Given the description of an element on the screen output the (x, y) to click on. 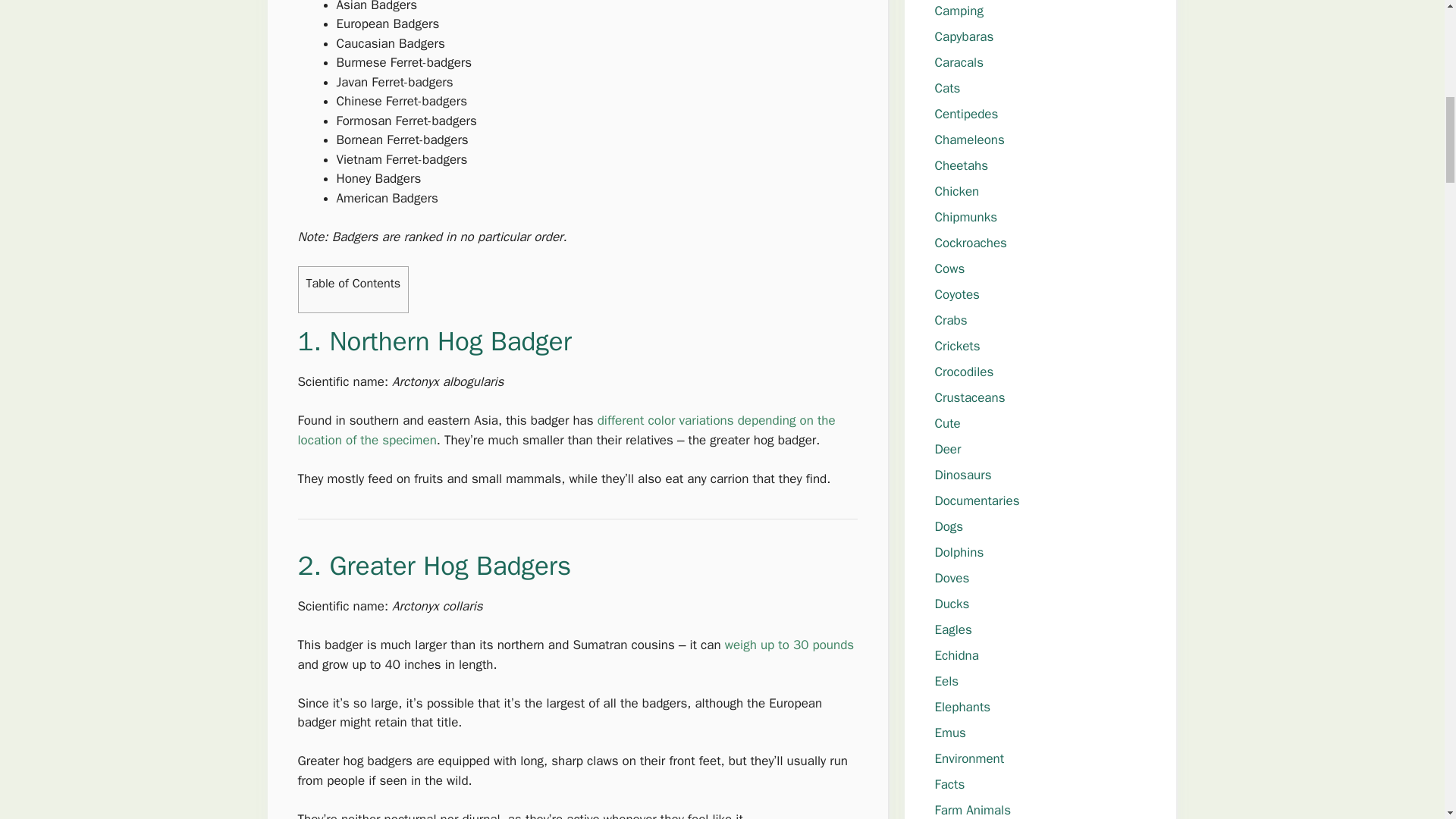
weigh up to 30 pounds (789, 644)
Cuteness overload (946, 423)
